Given the description of an element on the screen output the (x, y) to click on. 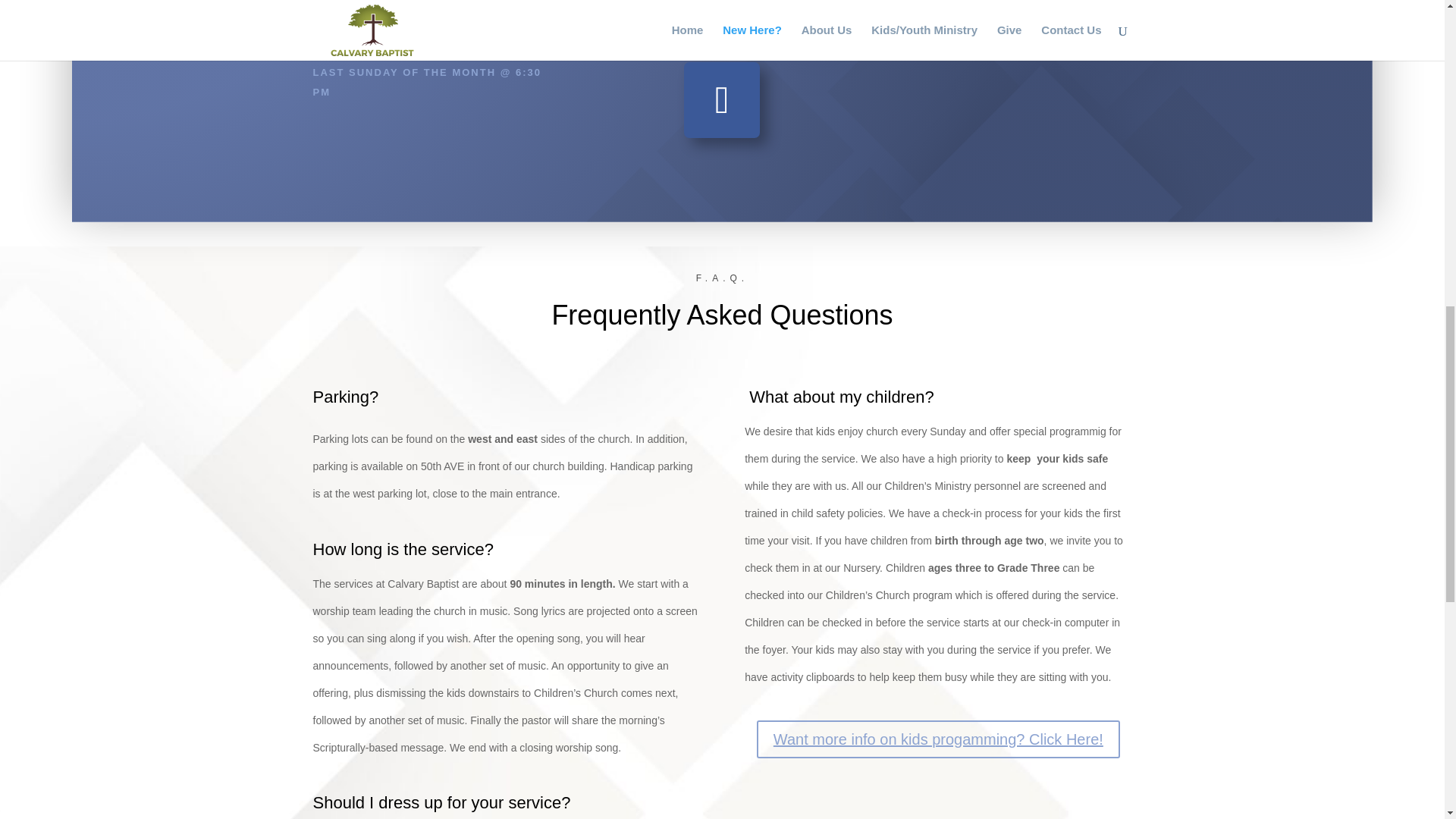
Want more info on kids progamming? Click Here! (938, 739)
Follow on Facebook (722, 100)
